Given the description of an element on the screen output the (x, y) to click on. 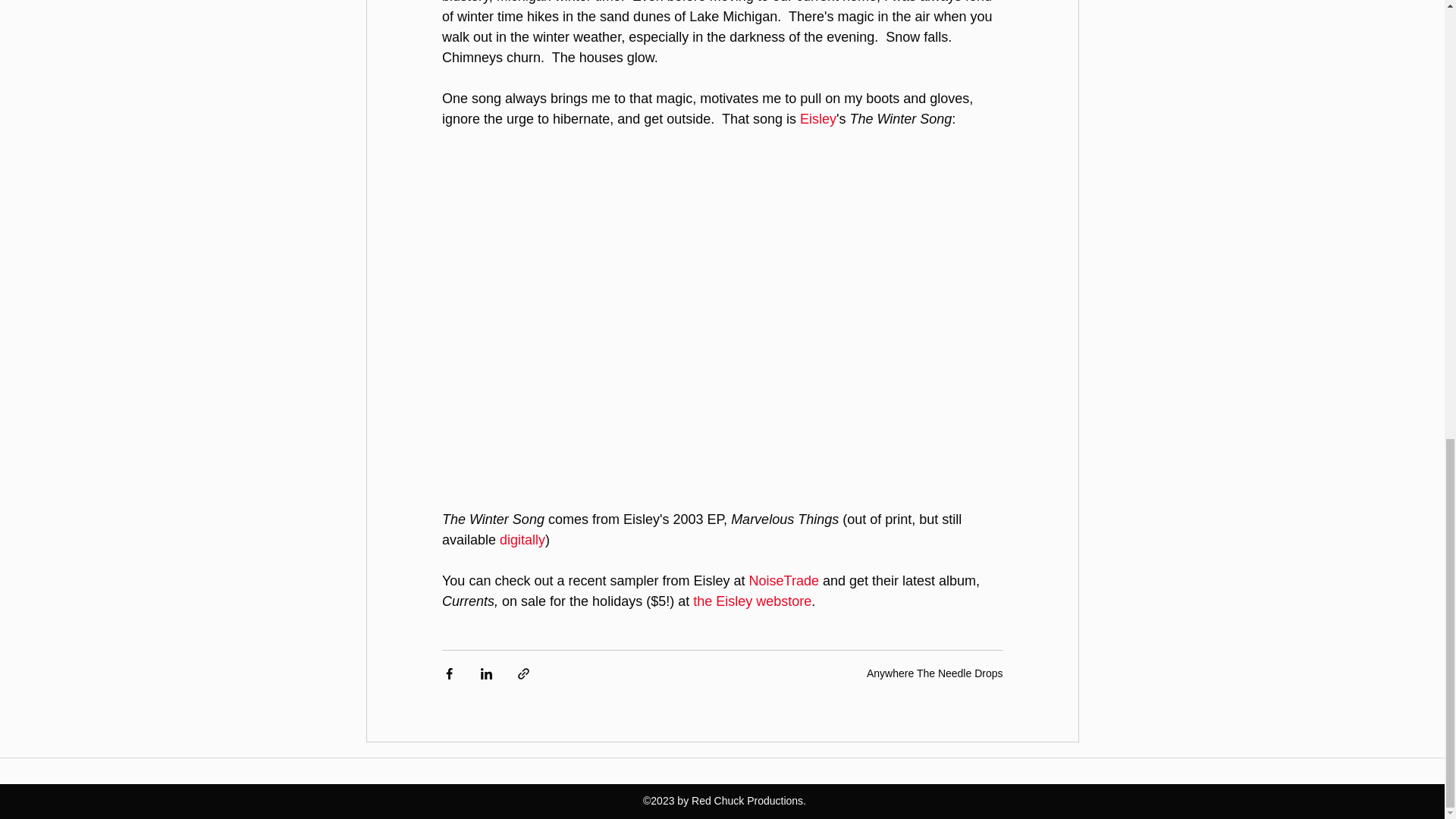
NoiseTrade (783, 580)
digitally (521, 539)
Anywhere The Needle Drops (934, 673)
Eisley (817, 118)
the Eisley webstore (751, 601)
